Given the description of an element on the screen output the (x, y) to click on. 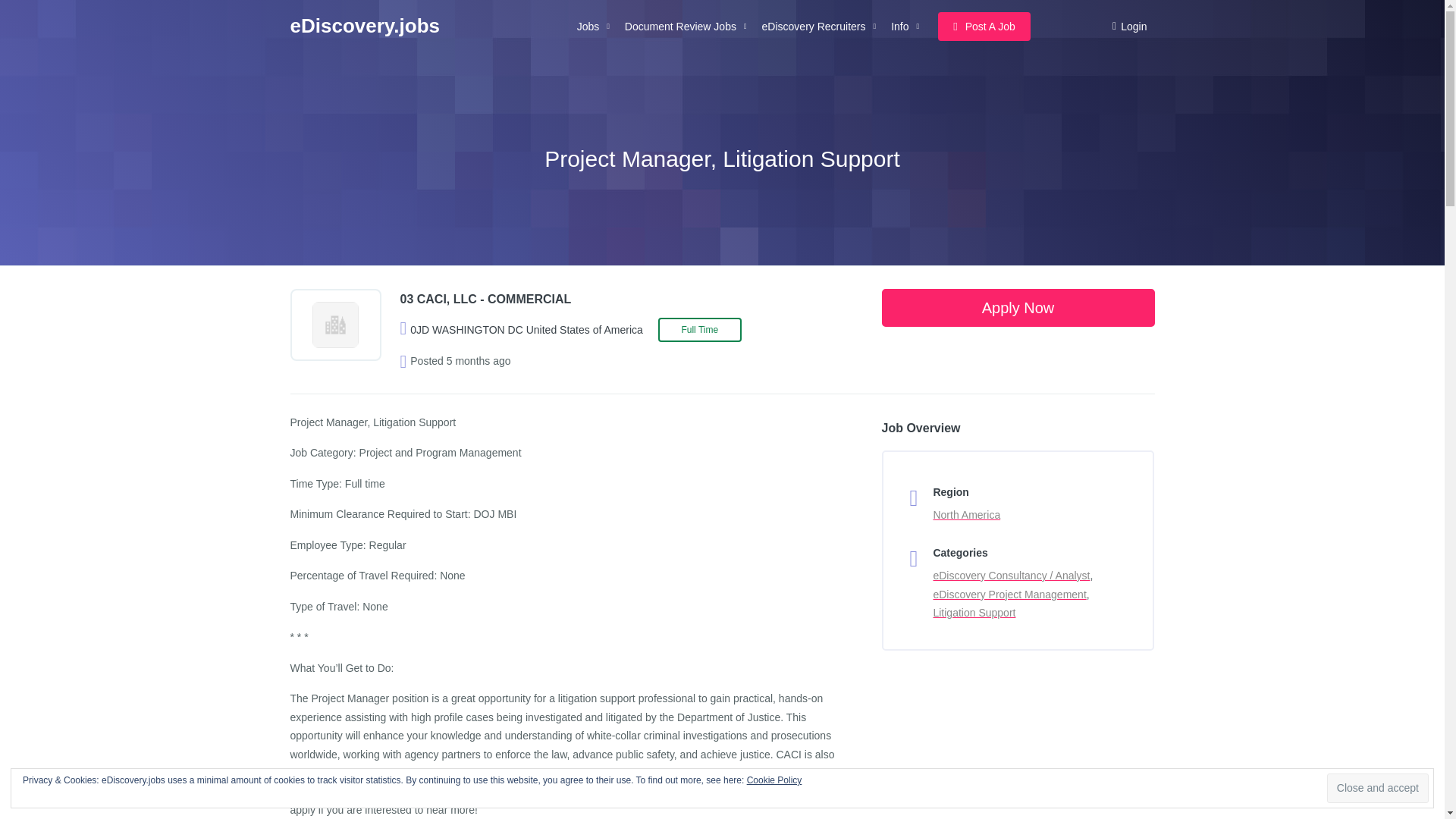
eDiscovery.jobs (364, 25)
Jobs (593, 26)
Close and accept (1377, 788)
